Given the description of an element on the screen output the (x, y) to click on. 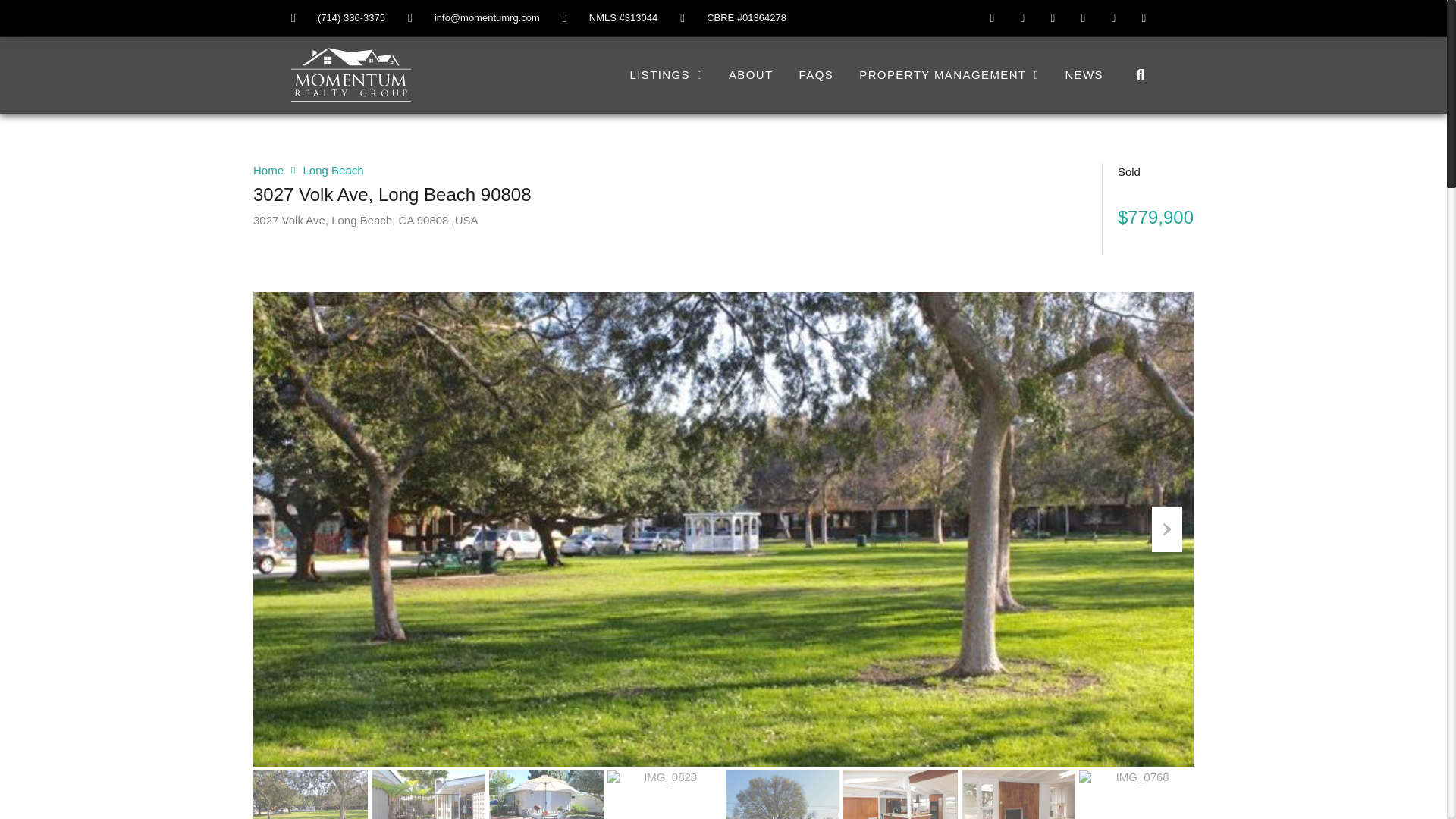
NEWS (1083, 74)
FAQS (816, 74)
LISTINGS (664, 74)
PROPERTY MANAGEMENT (948, 74)
ABOUT (751, 74)
